Given the description of an element on the screen output the (x, y) to click on. 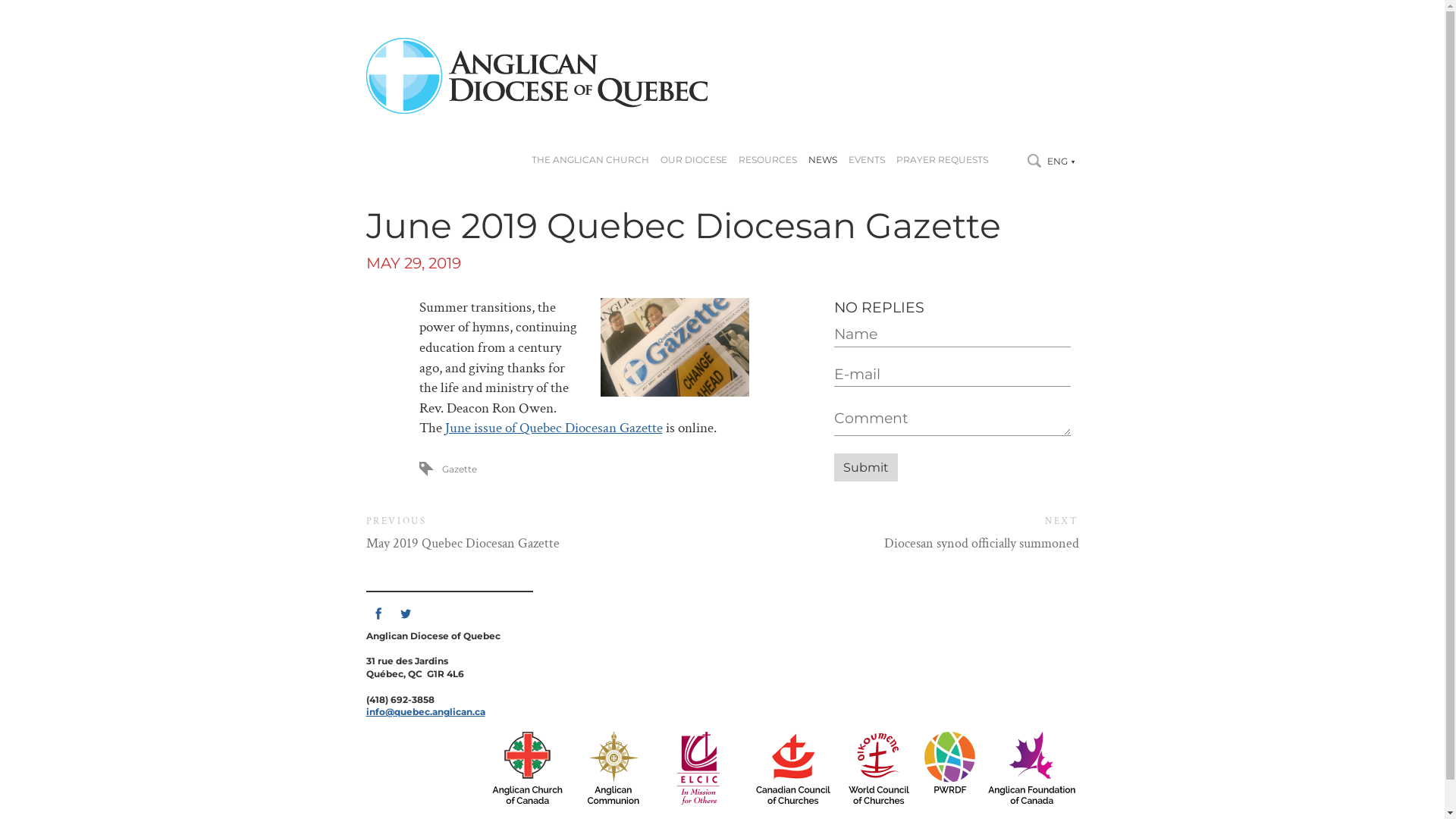
PREVIOUS
May 2019 Quebec Diocesan Gazette Element type: text (543, 533)
June issue of Quebec Diocesan Gazette Element type: text (553, 427)
PRAYER REQUESTS Element type: text (942, 159)
NEXT
Diocesan synod officially summoned Element type: text (899, 533)
THE ANGLICAN CHURCH Element type: text (589, 159)
info@quebec.anglican.ca Element type: text (424, 711)
OUR DIOCESE Element type: text (692, 159)
Submit Element type: text (865, 467)
NEWS Element type: text (822, 159)
EVENTS Element type: text (865, 159)
RESOURCES Element type: text (767, 159)
Gazette Element type: text (458, 468)
